Given the description of an element on the screen output the (x, y) to click on. 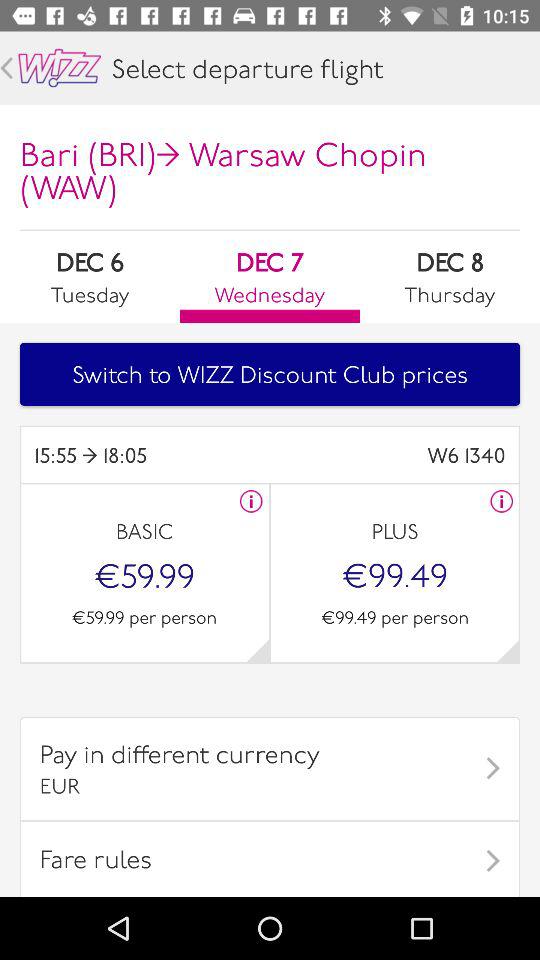
toggle main page (59, 68)
